Given the description of an element on the screen output the (x, y) to click on. 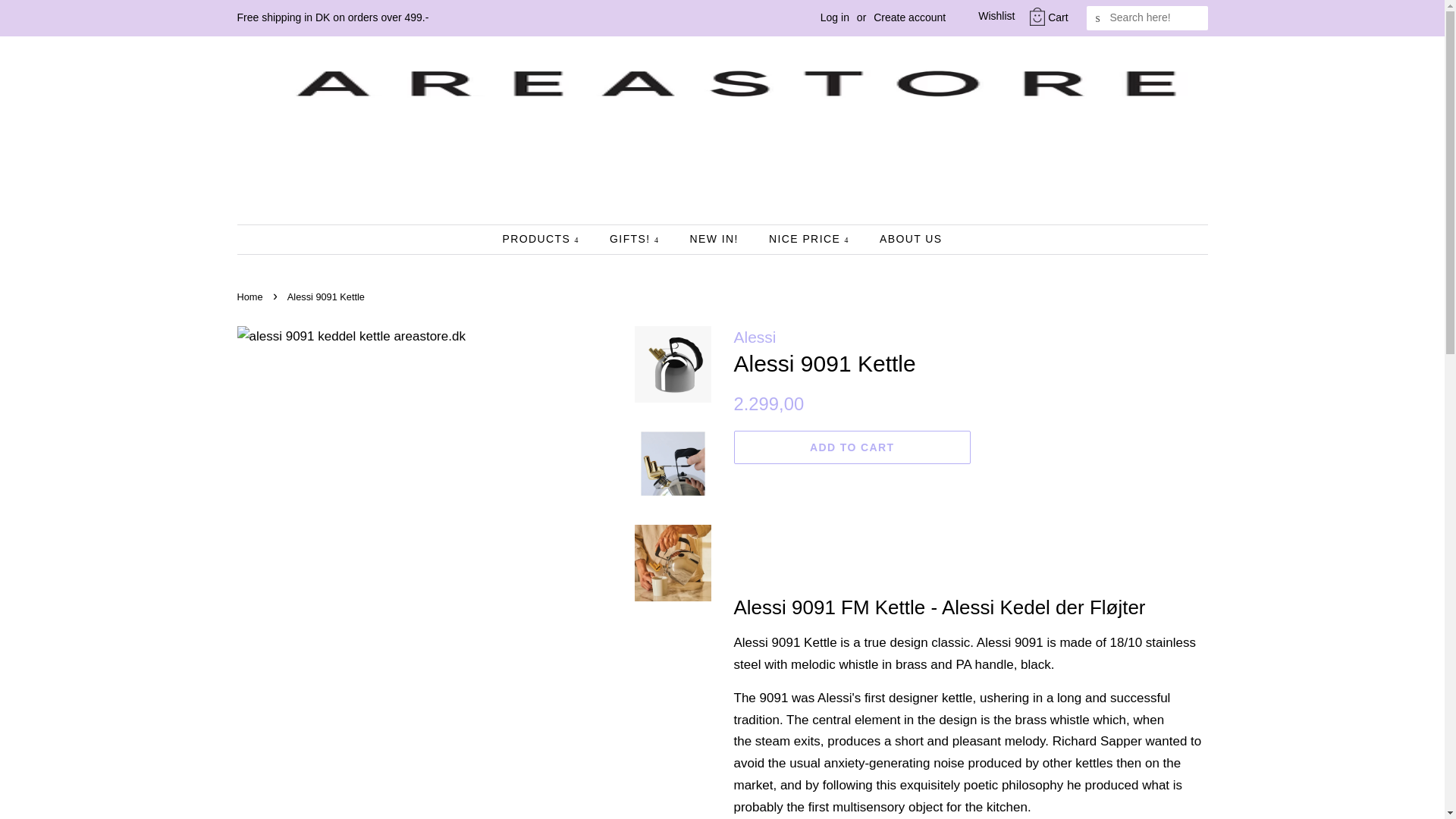
Create account (908, 17)
Alessi (754, 336)
SEARCH (1097, 18)
Back to the frontpage (250, 296)
Wishlist (984, 16)
Log in (834, 17)
Cart (1057, 18)
